Given the description of an element on the screen output the (x, y) to click on. 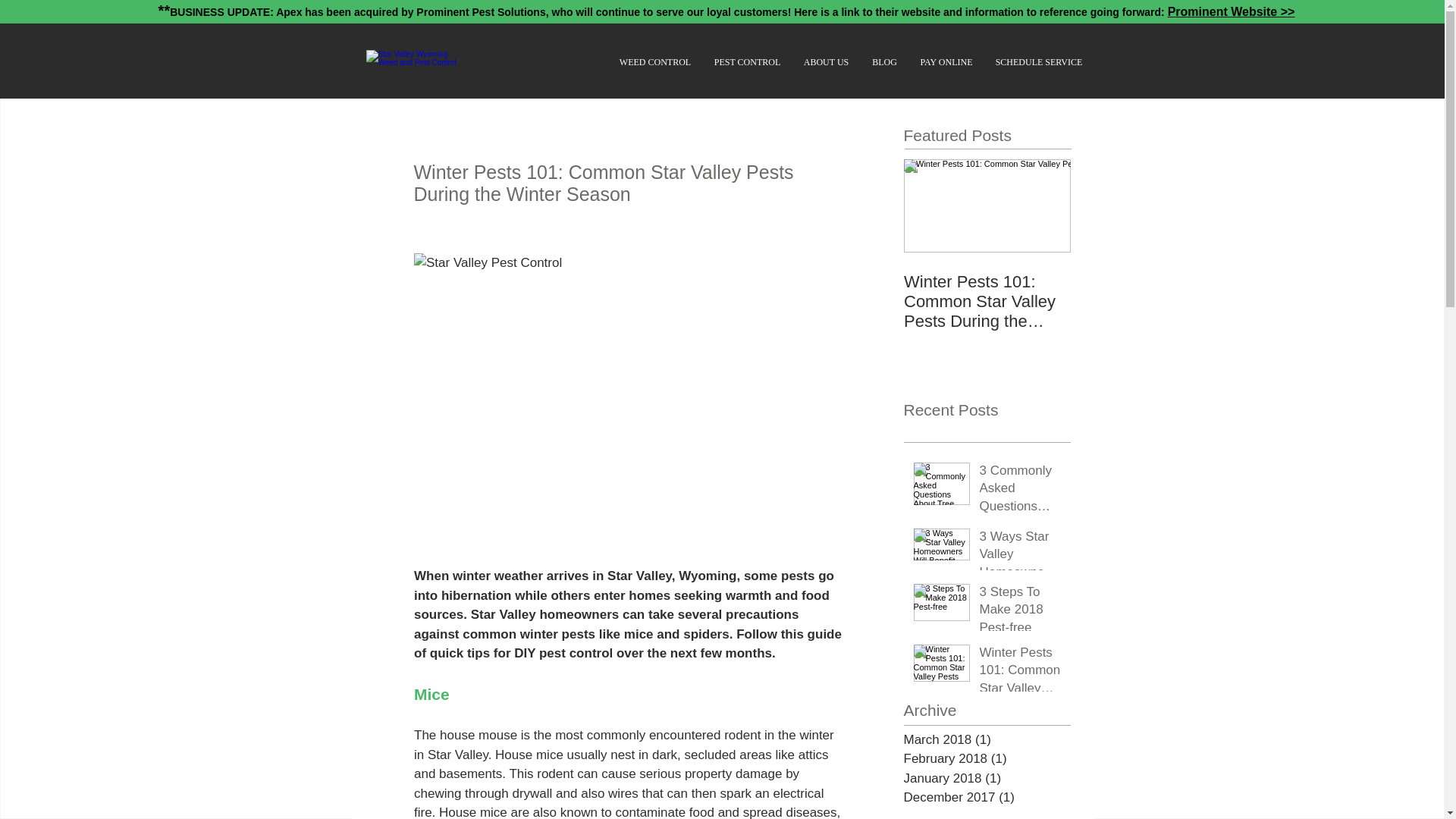
ABOUT US (826, 62)
SCHEDULE SERVICE (1039, 62)
BLOG (884, 62)
3 Commonly Asked Questions About Tree Spraying (1020, 491)
3 Steps To Make 2018 Pest-free (1020, 612)
PAY ONLINE (946, 62)
